Given the description of an element on the screen output the (x, y) to click on. 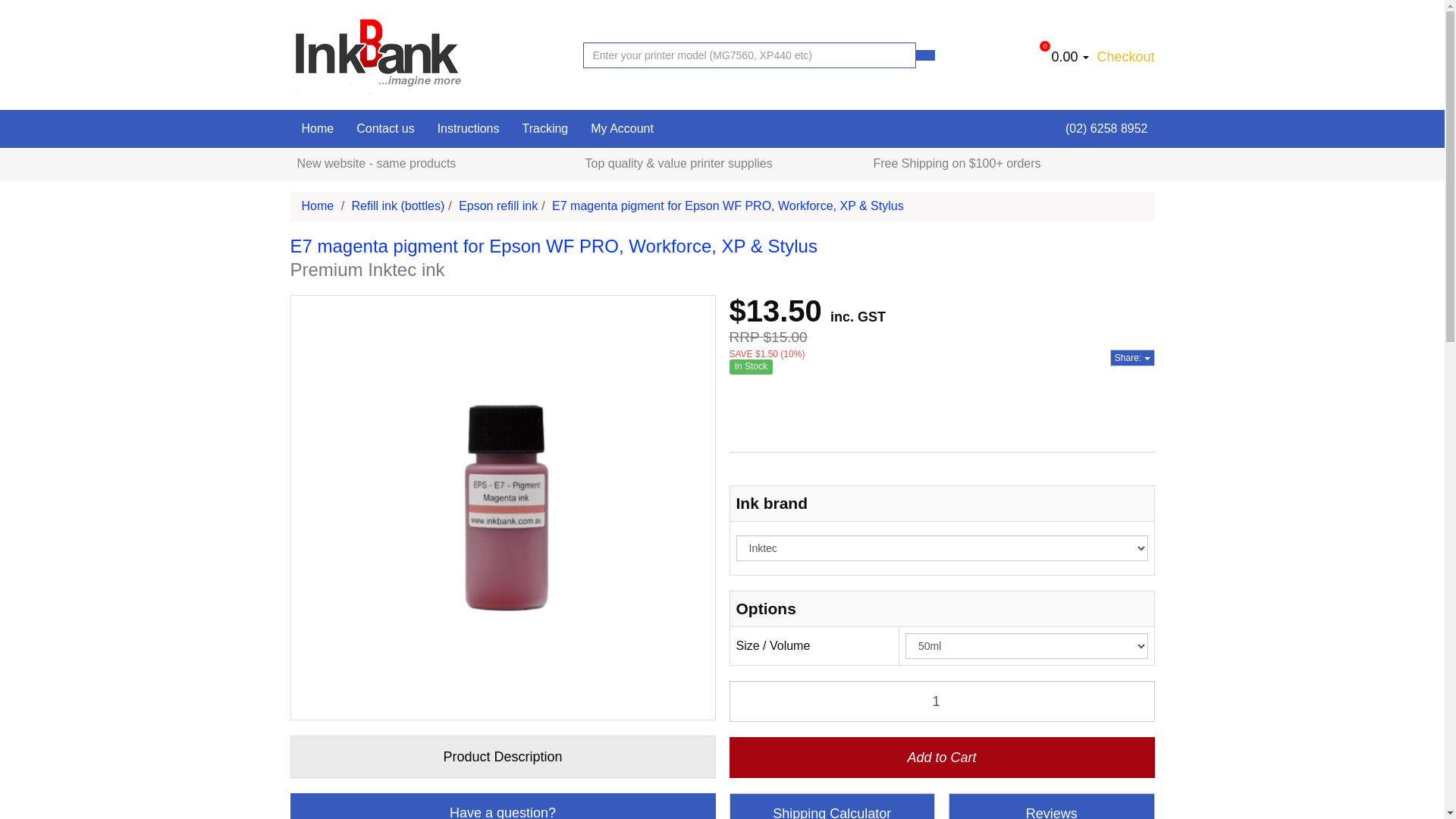
Add to Cart Element type: text (941, 757)
Product Description Element type: text (503, 756)
Checkout Element type: text (1123, 56)
0
0.00 Element type: text (1071, 56)
Refill ink (bottles) Element type: text (398, 205)
Instructions Element type: text (468, 128)
My Account Element type: text (622, 128)
Home Element type: text (317, 205)
Share: Element type: text (1132, 357)
Tracking Element type: text (544, 128)
Inkbank Element type: hover (384, 53)
E7 magenta pigment for Epson WF PRO, Workforce, XP & Stylus Element type: text (727, 205)
(02) 6258 8952 Element type: text (1101, 128)
Contact us Element type: text (385, 128)
Home Element type: text (317, 128)
Epson refill ink Element type: text (497, 205)
Search Element type: text (925, 55)
